Given the description of an element on the screen output the (x, y) to click on. 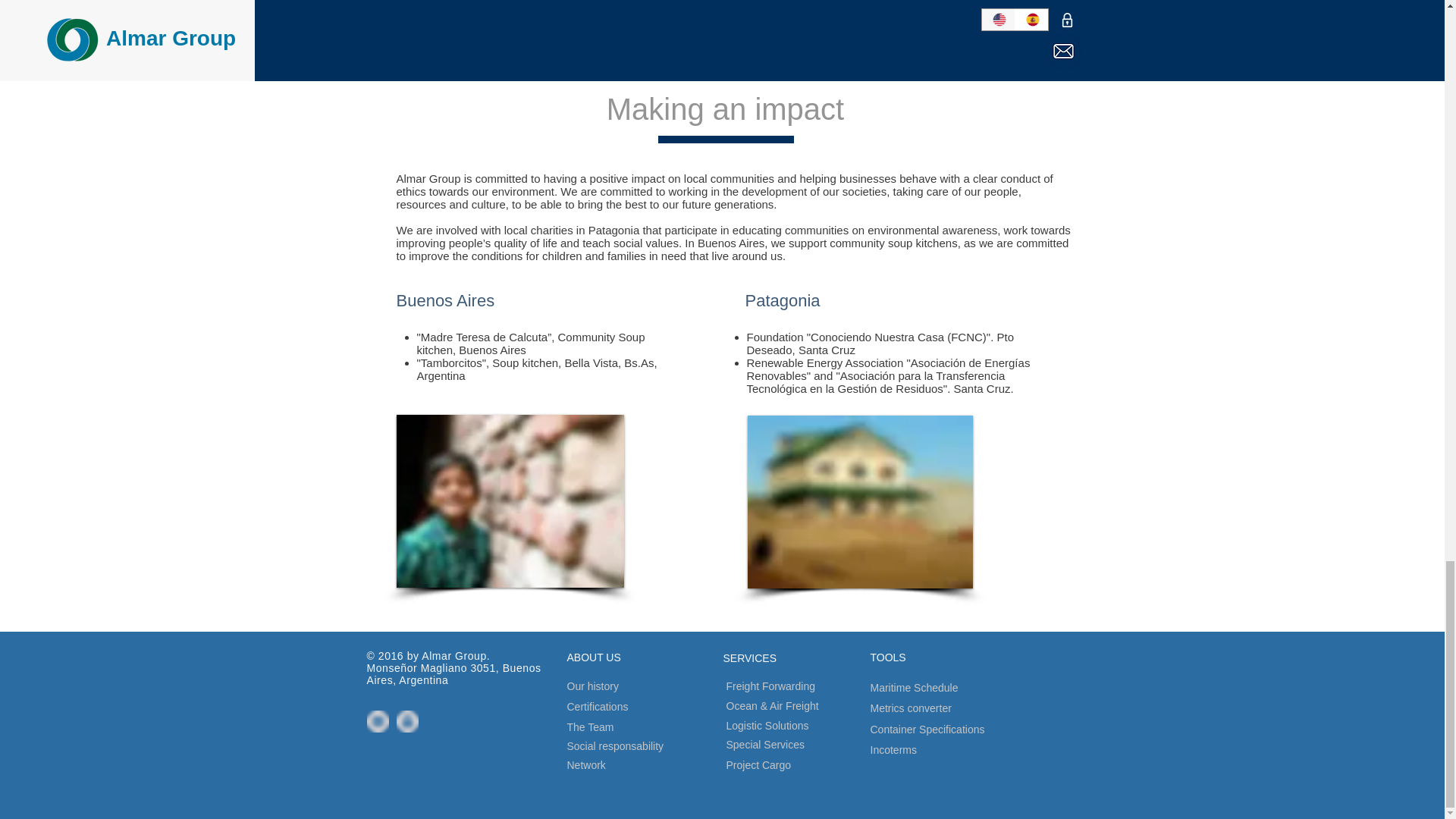
Social responsability (661, 746)
Freight Forwarding (812, 686)
Maritime Schedule (954, 687)
Project Cargo (789, 764)
Our history (621, 686)
Logistic Solutions (806, 725)
The Team (621, 727)
Container Specifications (980, 729)
Incoterms (923, 750)
Certifications (627, 706)
